Given the description of an element on the screen output the (x, y) to click on. 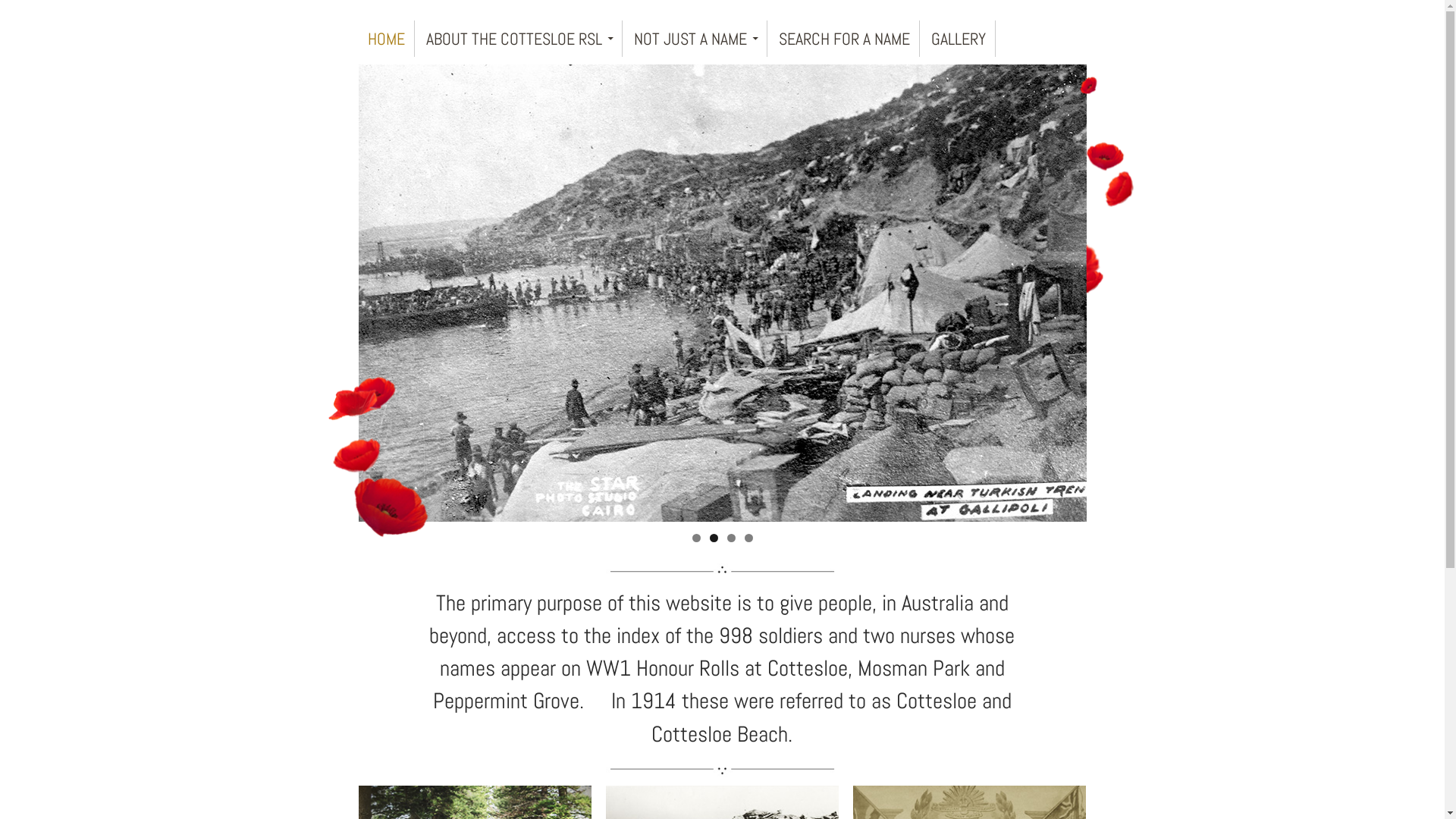
NOT JUST A NAME Element type: text (695, 38)
ABOUT THE COTTESLOE RSL Element type: text (519, 38)
2 Element type: text (713, 537)
SKIP TO CONTENT Element type: text (367, 19)
3 Element type: text (730, 537)
SEARCH FOR A NAME Element type: text (843, 38)
GALLERY Element type: text (958, 38)
4 Element type: text (748, 537)
HOME Element type: text (385, 38)
1 Element type: text (695, 537)
